Given the description of an element on the screen output the (x, y) to click on. 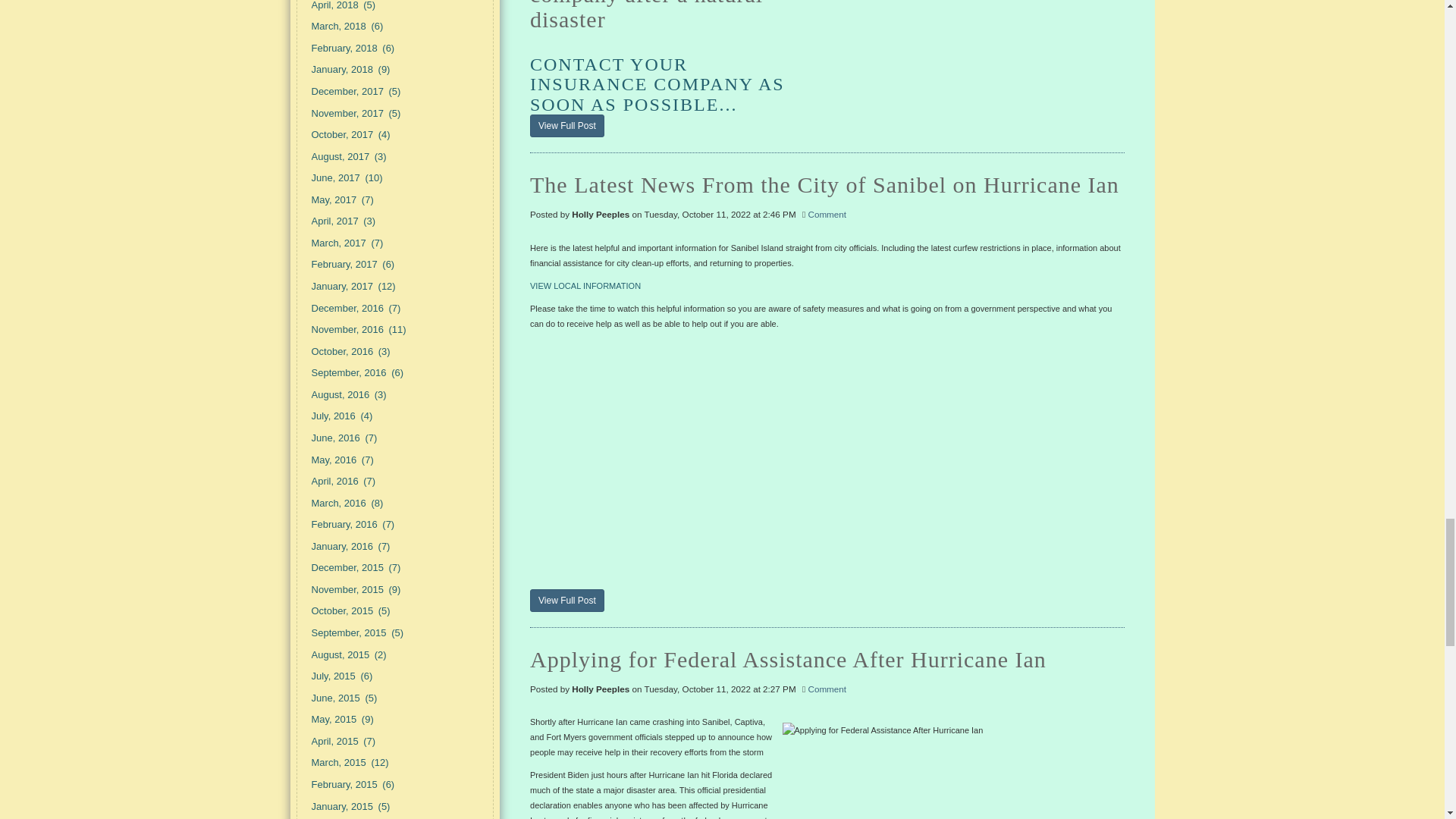
A Post Disaster Insurance Guide for Sanibel Homeowners (964, 38)
The Latest News From the City of Sanibel on Hurricane Ian (826, 182)
The Latest News From the City of Sanibel on Hurricane Ian (566, 599)
A Post Disaster Insurance Guide for Sanibel Homeowners (566, 125)
